Given the description of an element on the screen output the (x, y) to click on. 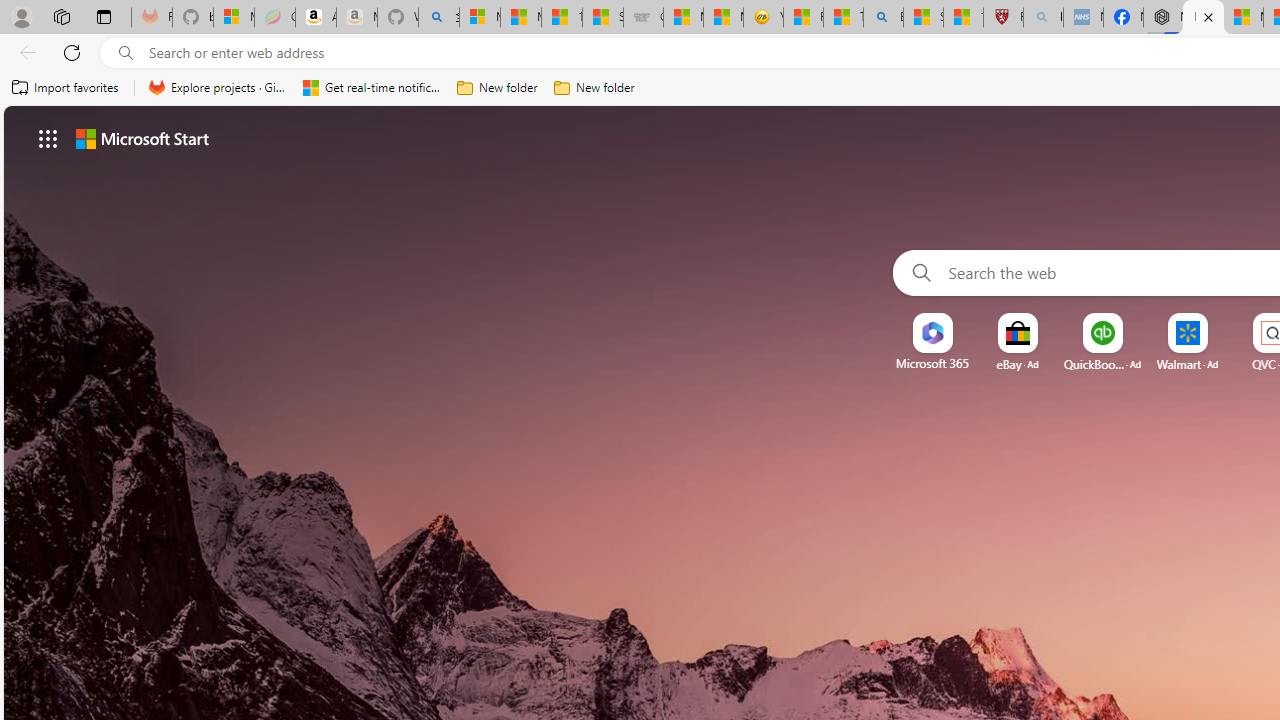
More Options (1219, 320)
Import favorites (65, 88)
Search icon (125, 53)
Microsoft start (142, 138)
